Given the description of an element on the screen output the (x, y) to click on. 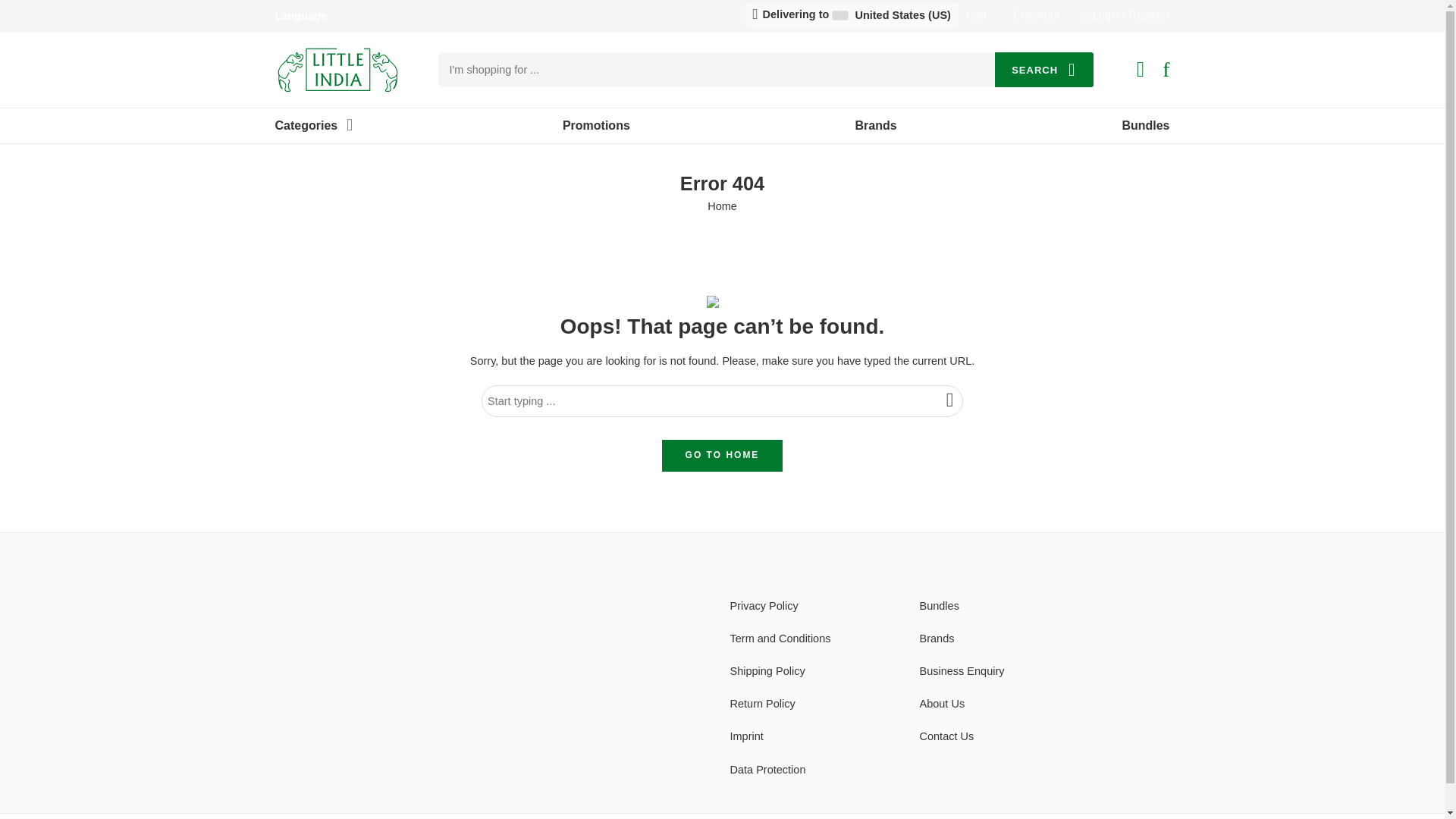
Cart (976, 15)
Checkout (1036, 15)
SEARCH (1043, 69)
Categories (306, 125)
Categories (306, 125)
Cart (1140, 69)
Checkout (1036, 15)
Cart (976, 15)
